Given the description of an element on the screen output the (x, y) to click on. 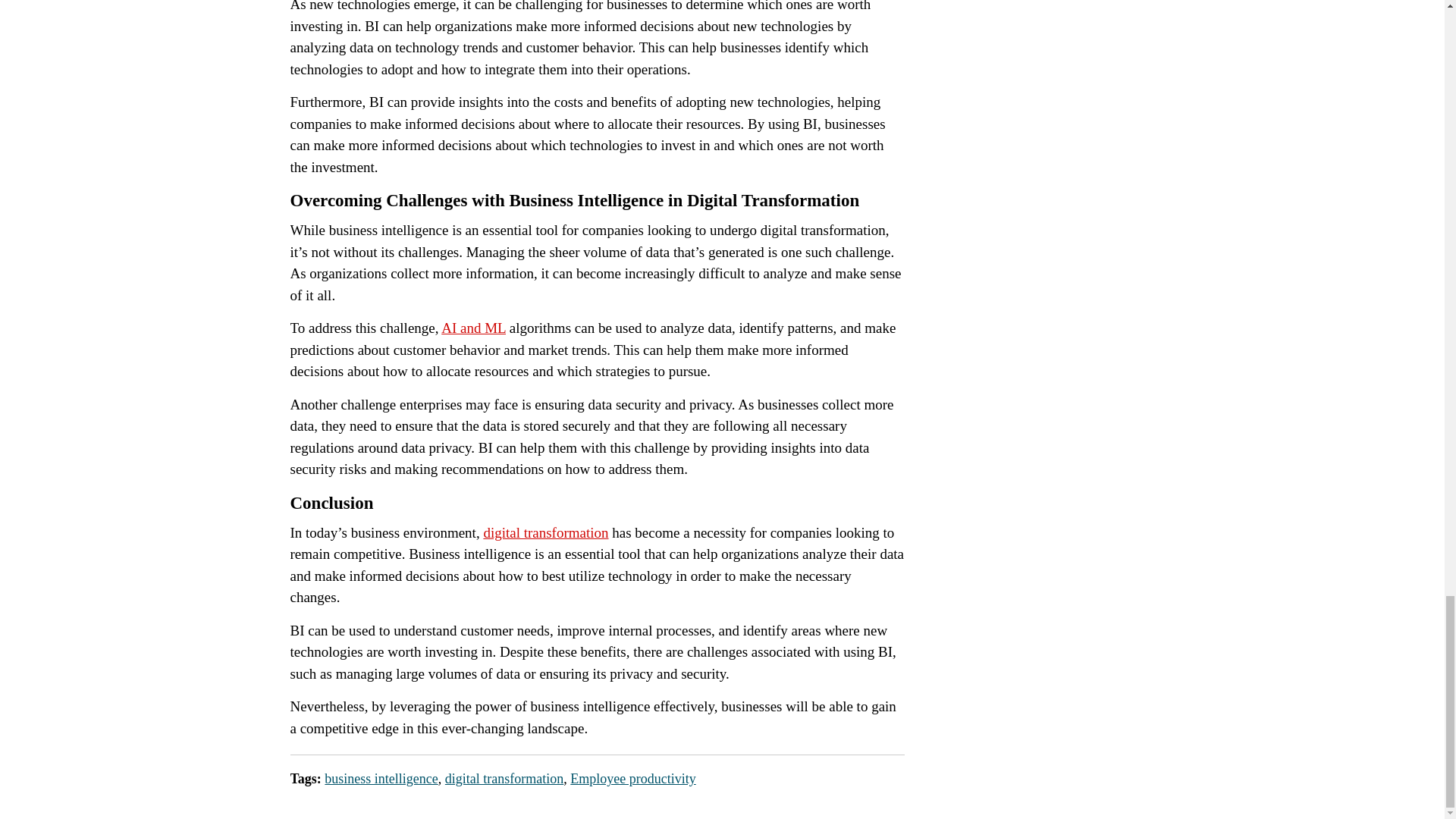
digital transformation (545, 532)
AI and ML (473, 327)
